Given the description of an element on the screen output the (x, y) to click on. 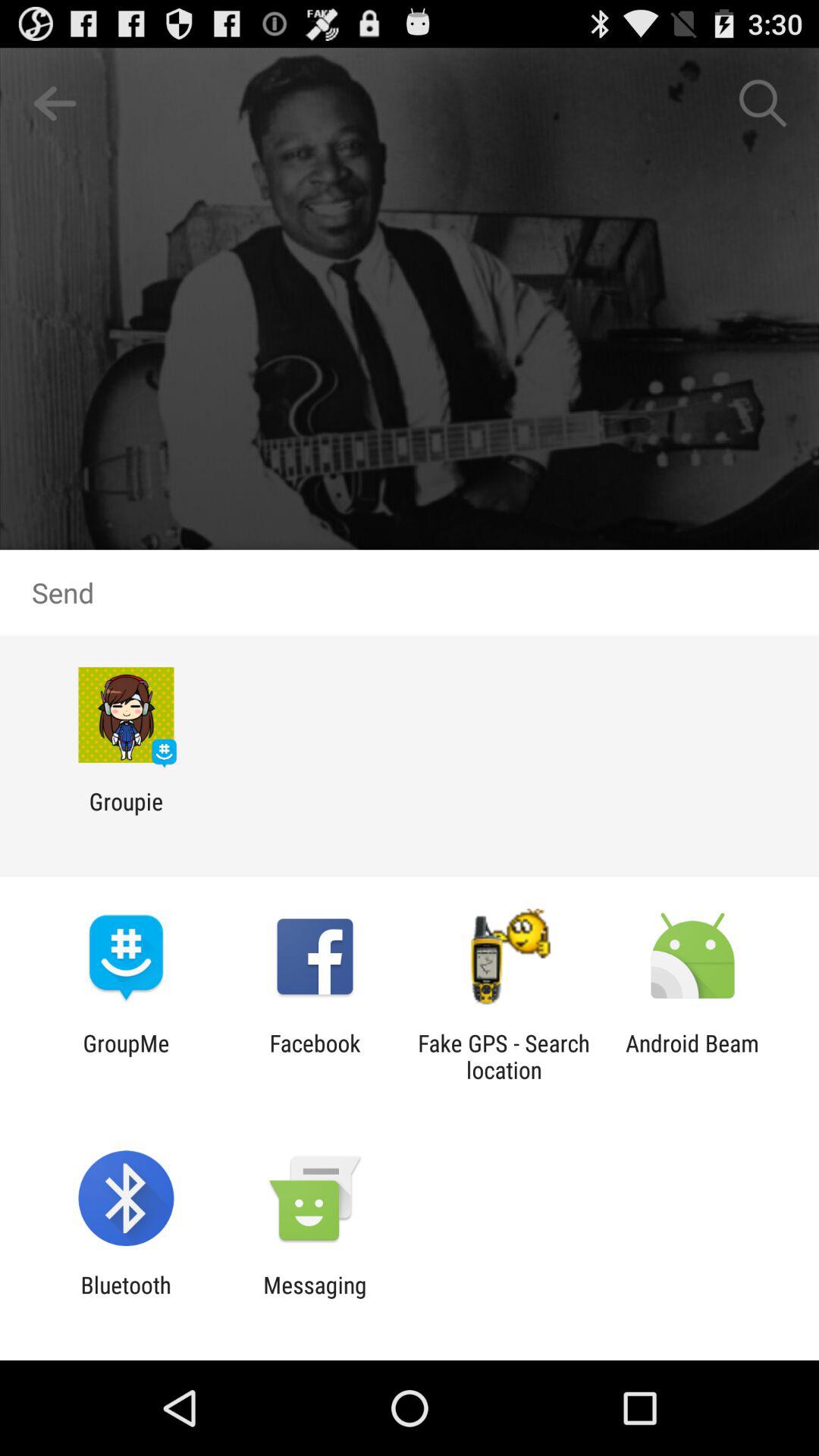
tap the app to the right of the bluetooth item (314, 1298)
